Given the description of an element on the screen output the (x, y) to click on. 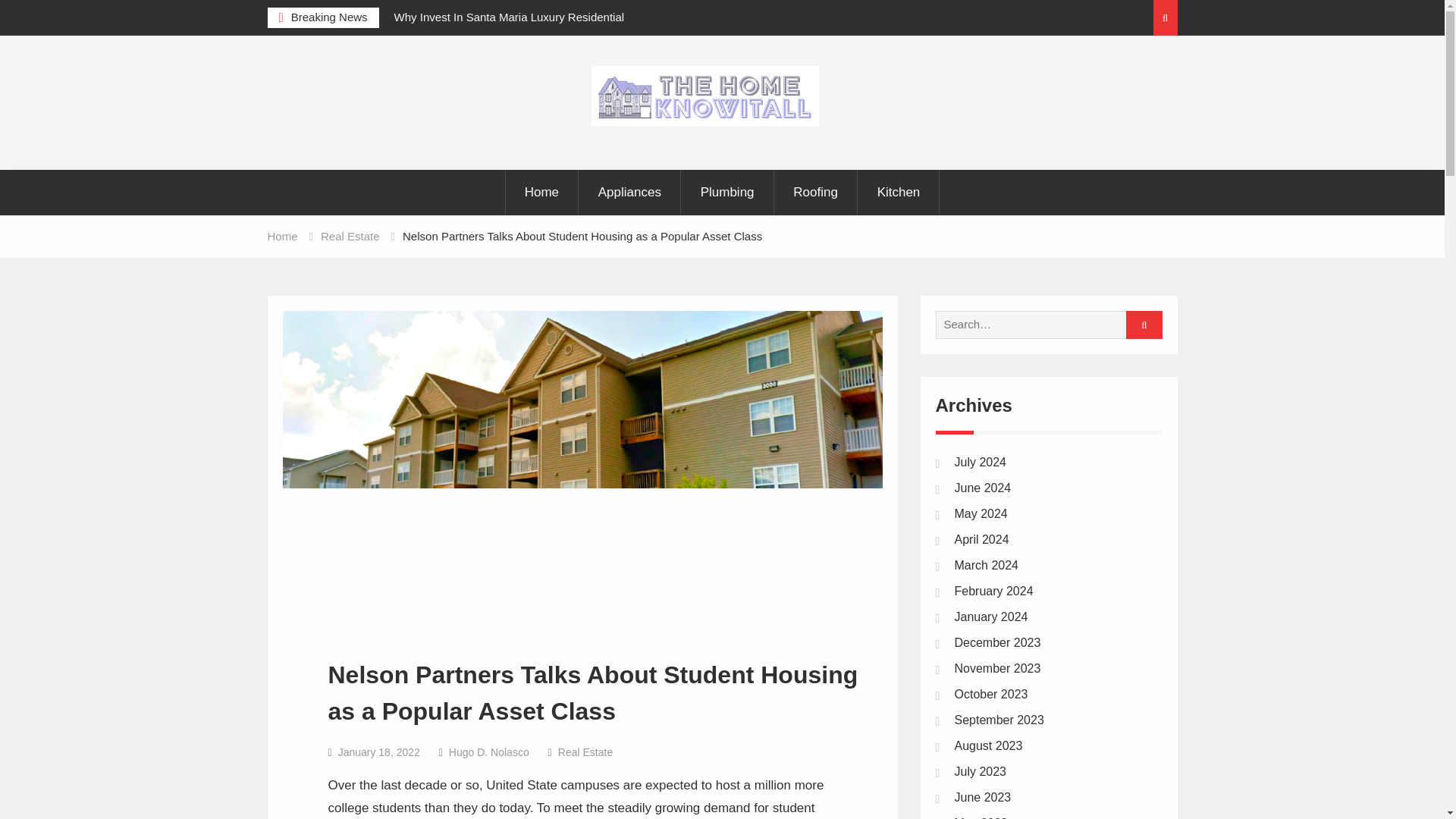
Real Estate (350, 236)
Home (541, 192)
Appliances (630, 192)
July 2024 (979, 461)
Hugo D. Nolasco (488, 752)
June 2024 (981, 487)
Roofing (815, 192)
Home (281, 236)
Real Estate (584, 752)
Search for: (1043, 325)
Why Invest In Santa Maria Luxury Residential Properties? (531, 27)
Plumbing (727, 192)
May 2024 (980, 513)
January 18, 2022 (378, 752)
Kitchen (899, 192)
